Given the description of an element on the screen output the (x, y) to click on. 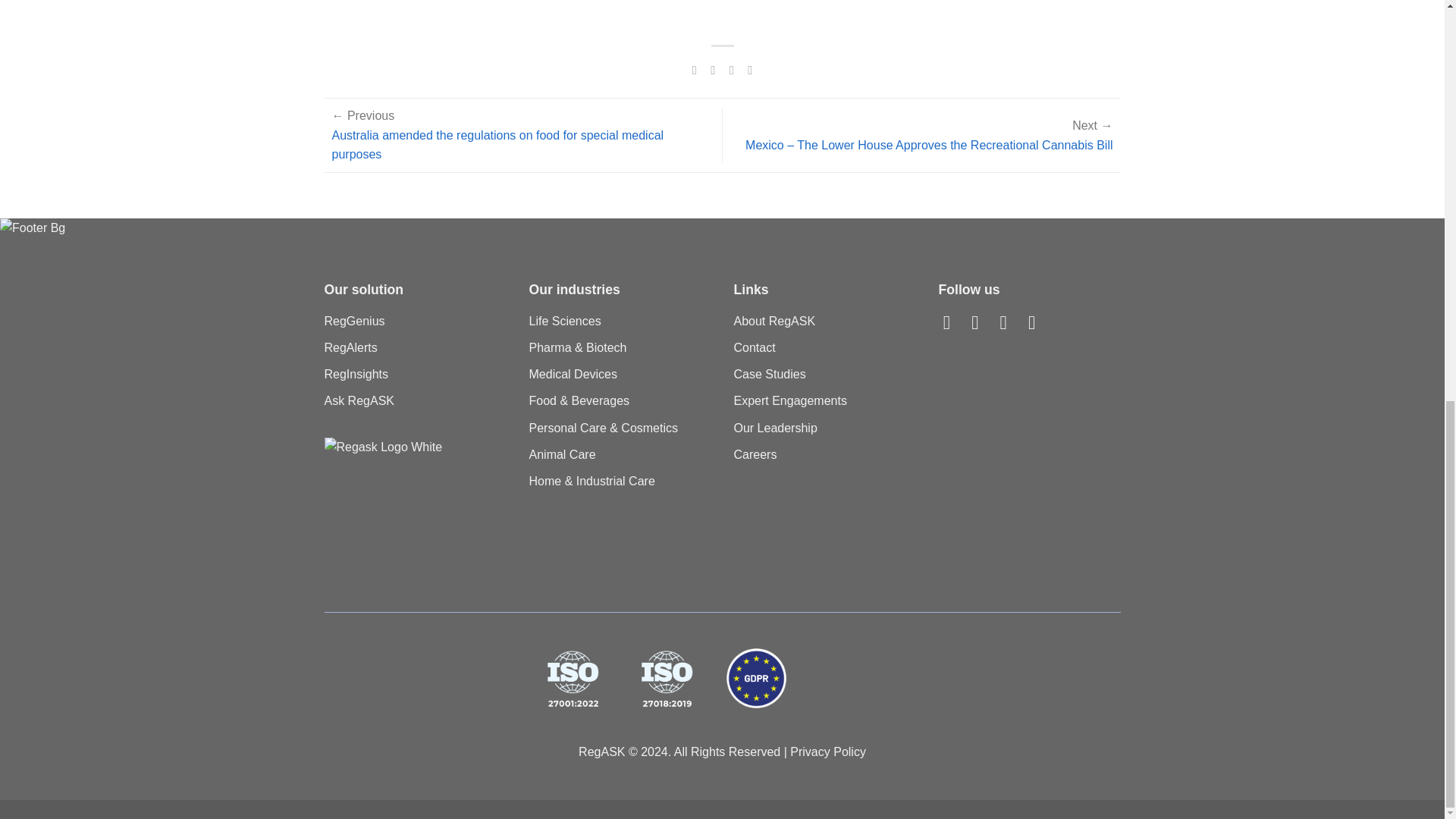
RegInsights (415, 374)
RegGenius (415, 320)
Follow on LinkedIn (1009, 322)
Follow on Facebook (952, 322)
RegAlerts (415, 347)
Life Sciences (620, 320)
Follow on YouTube (1036, 322)
Follow on X (980, 322)
Ask RegASK (415, 401)
